Given the description of an element on the screen output the (x, y) to click on. 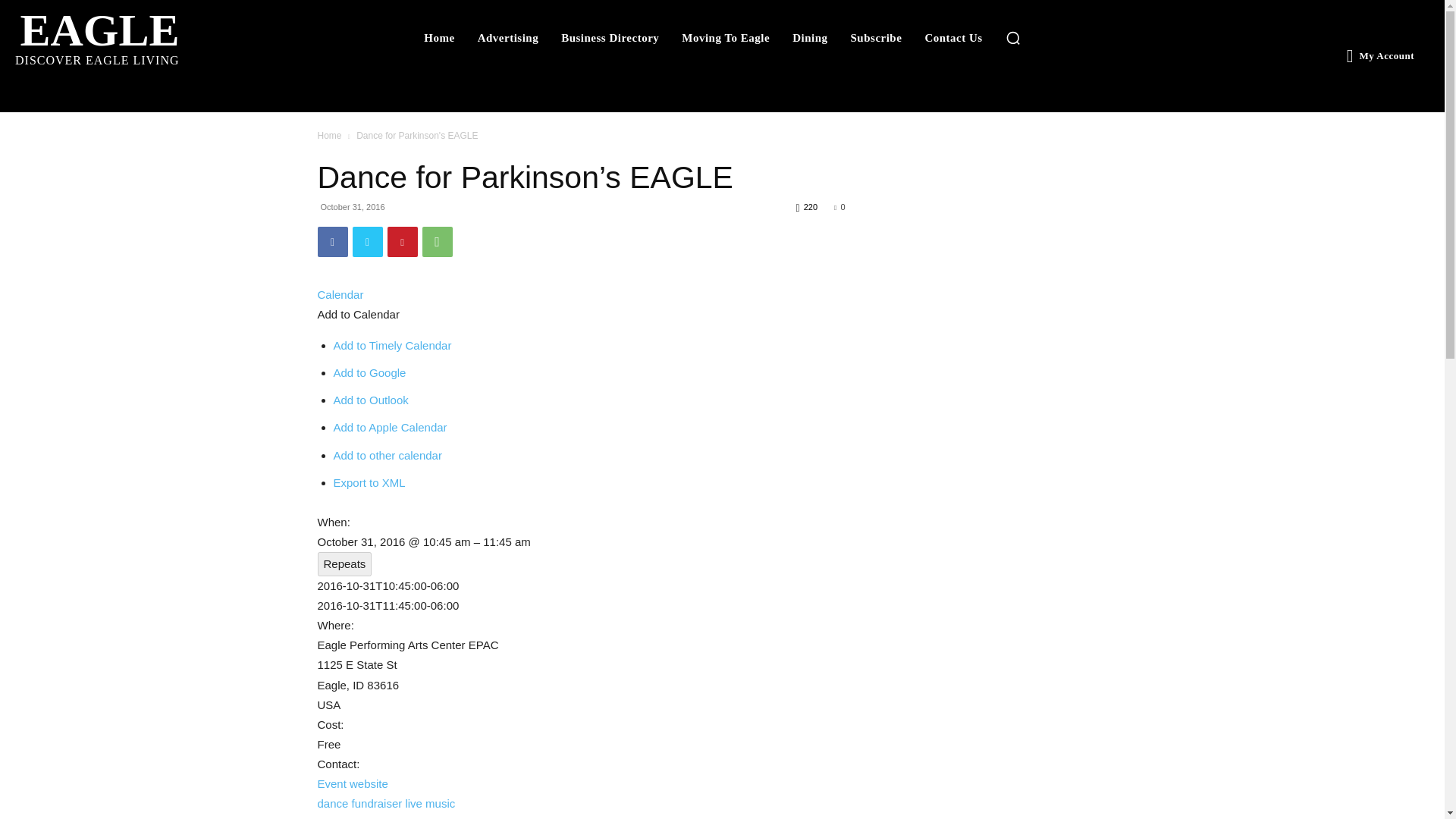
WhatsApp (436, 241)
Advertising (508, 38)
Twitter (366, 241)
Subscribe to this calendar in your Google Calendar (127, 37)
Facebook (369, 372)
Business Directory (332, 241)
Moving To Eagle (609, 38)
Subscribe to this calendar in MS Outlook (725, 38)
Contact Us (371, 399)
Pinterest (953, 38)
View all events (401, 241)
